Given the description of an element on the screen output the (x, y) to click on. 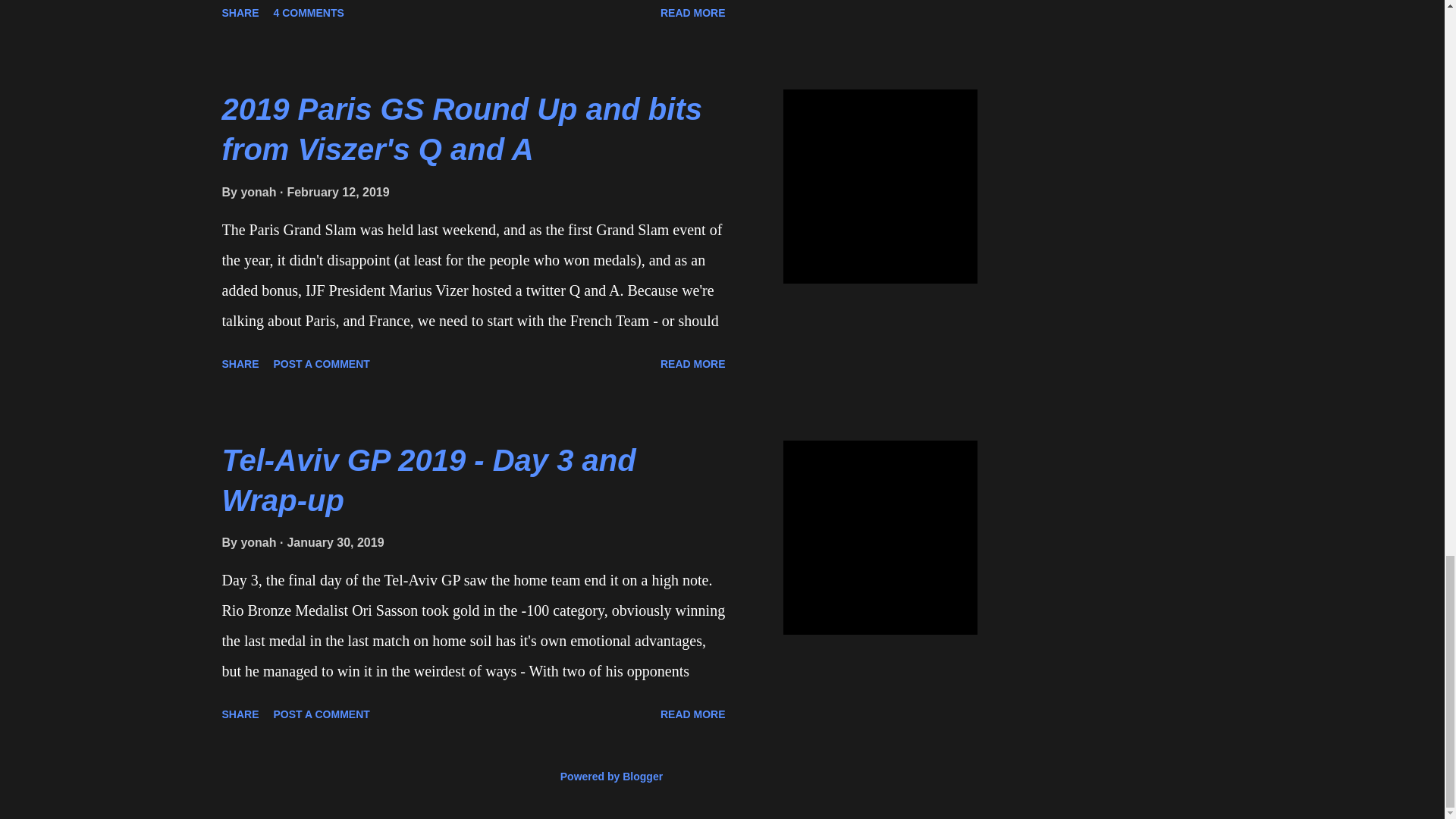
yonah (259, 542)
POST A COMMENT (321, 363)
READ MORE (692, 12)
2019 Paris GS Round Up and bits from Viszer's Q and A (461, 129)
yonah (259, 192)
SHARE (239, 363)
Tel-Aviv GP 2019 - Day 3 and Wrap-up (427, 479)
4 COMMENTS (308, 12)
SHARE (239, 12)
February 12, 2019 (337, 192)
